Given the description of an element on the screen output the (x, y) to click on. 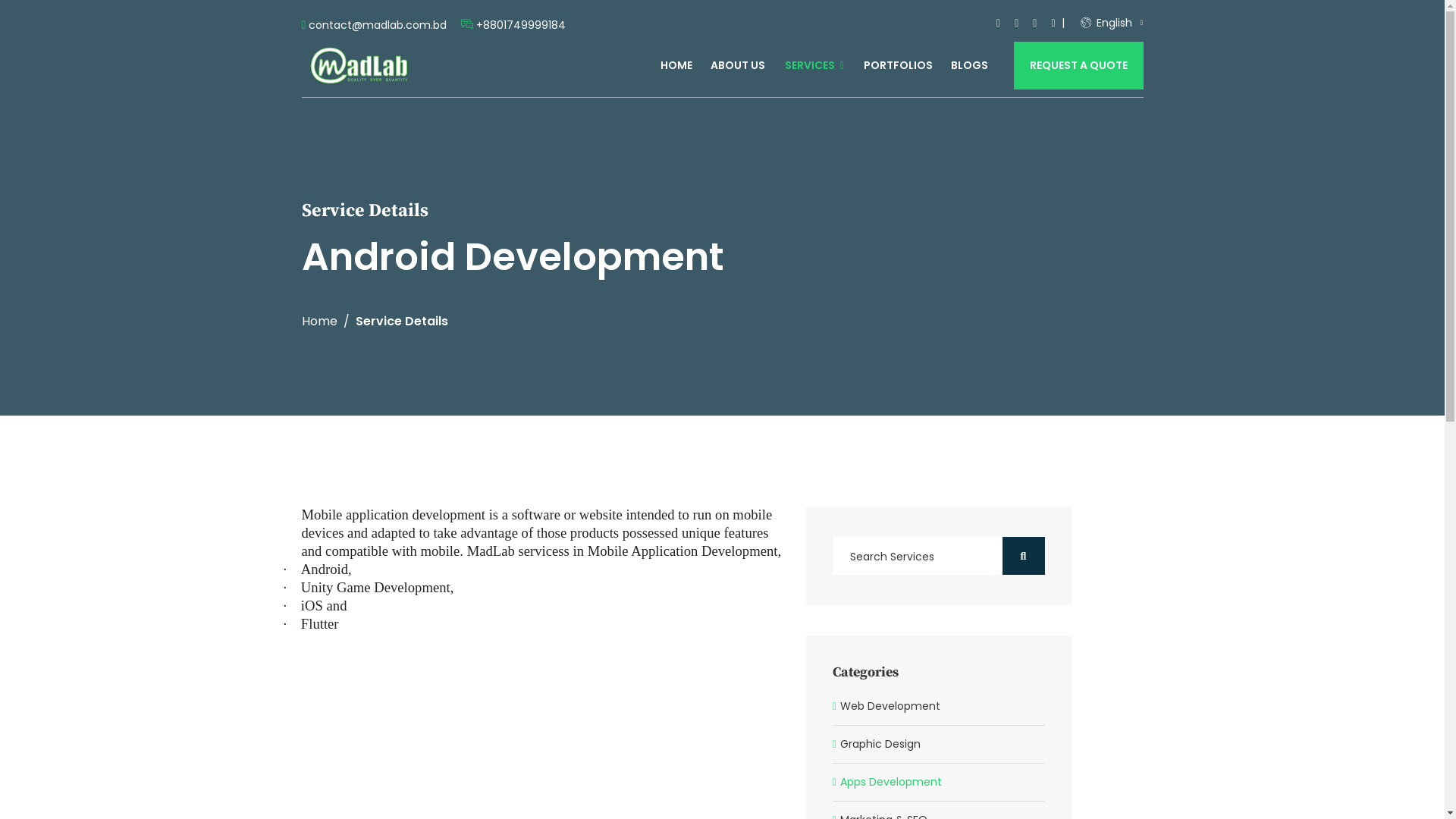
BLOGS Element type: text (969, 65)
HOME Element type: text (675, 65)
+8801749999184 Element type: text (520, 25)
Web Development Element type: text (938, 706)
Apps Development Element type: text (938, 782)
SERVICES Element type: text (813, 65)
English Element type: text (1110, 23)
PORTFOLIOS Element type: text (897, 65)
REQUEST A QUOTE Element type: text (1077, 65)
contact@madlab.com.bd Element type: text (377, 25)
Graphic Design Element type: text (938, 744)
Home Element type: text (319, 321)
ABOUT US Element type: text (737, 65)
